Given the description of an element on the screen output the (x, y) to click on. 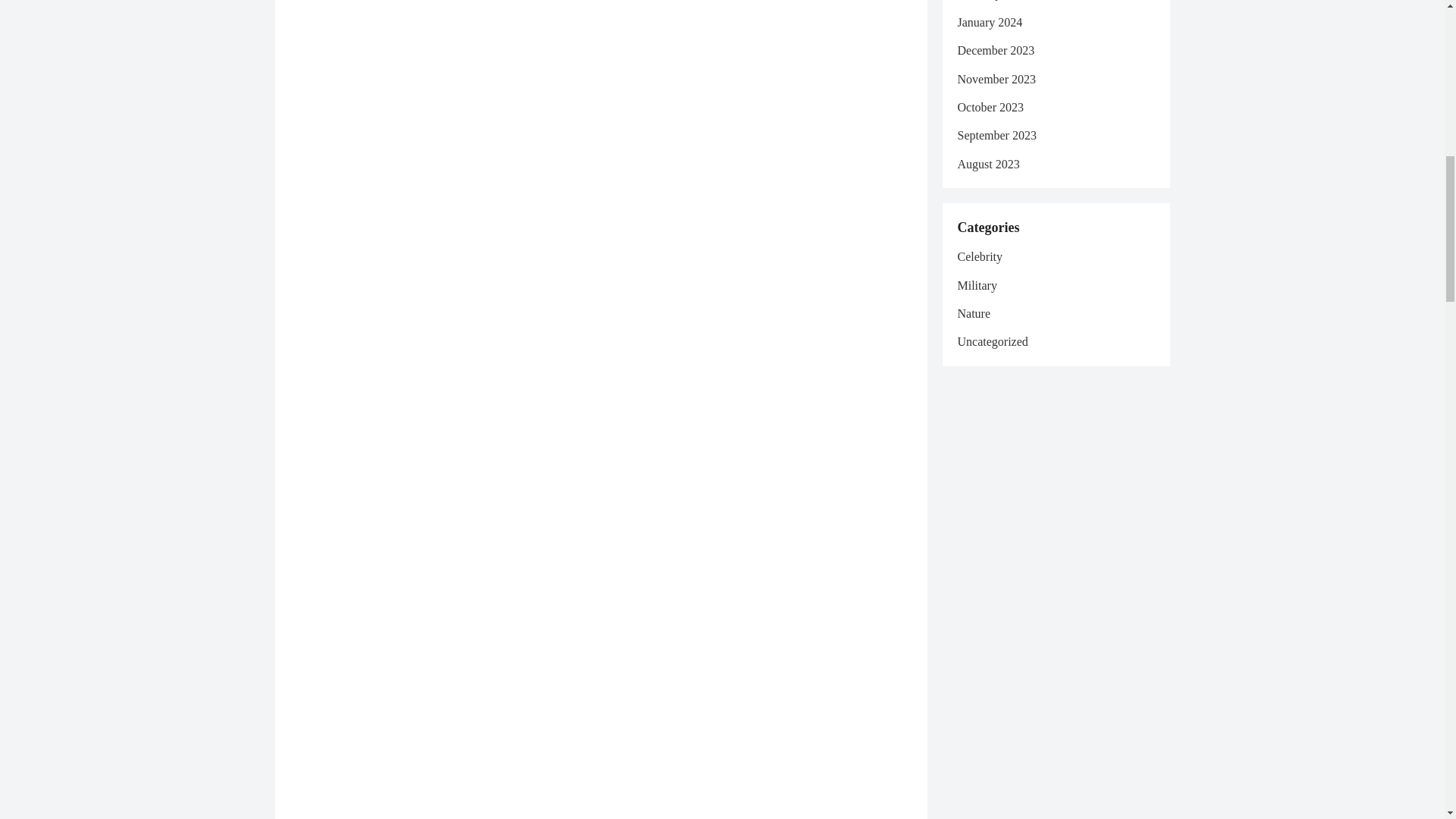
Celebrity (979, 256)
December 2023 (994, 50)
October 2023 (989, 106)
Nature (973, 313)
November 2023 (995, 78)
August 2023 (987, 164)
January 2024 (989, 21)
Uncategorized (991, 341)
September 2023 (995, 134)
Military (975, 285)
